Given the description of an element on the screen output the (x, y) to click on. 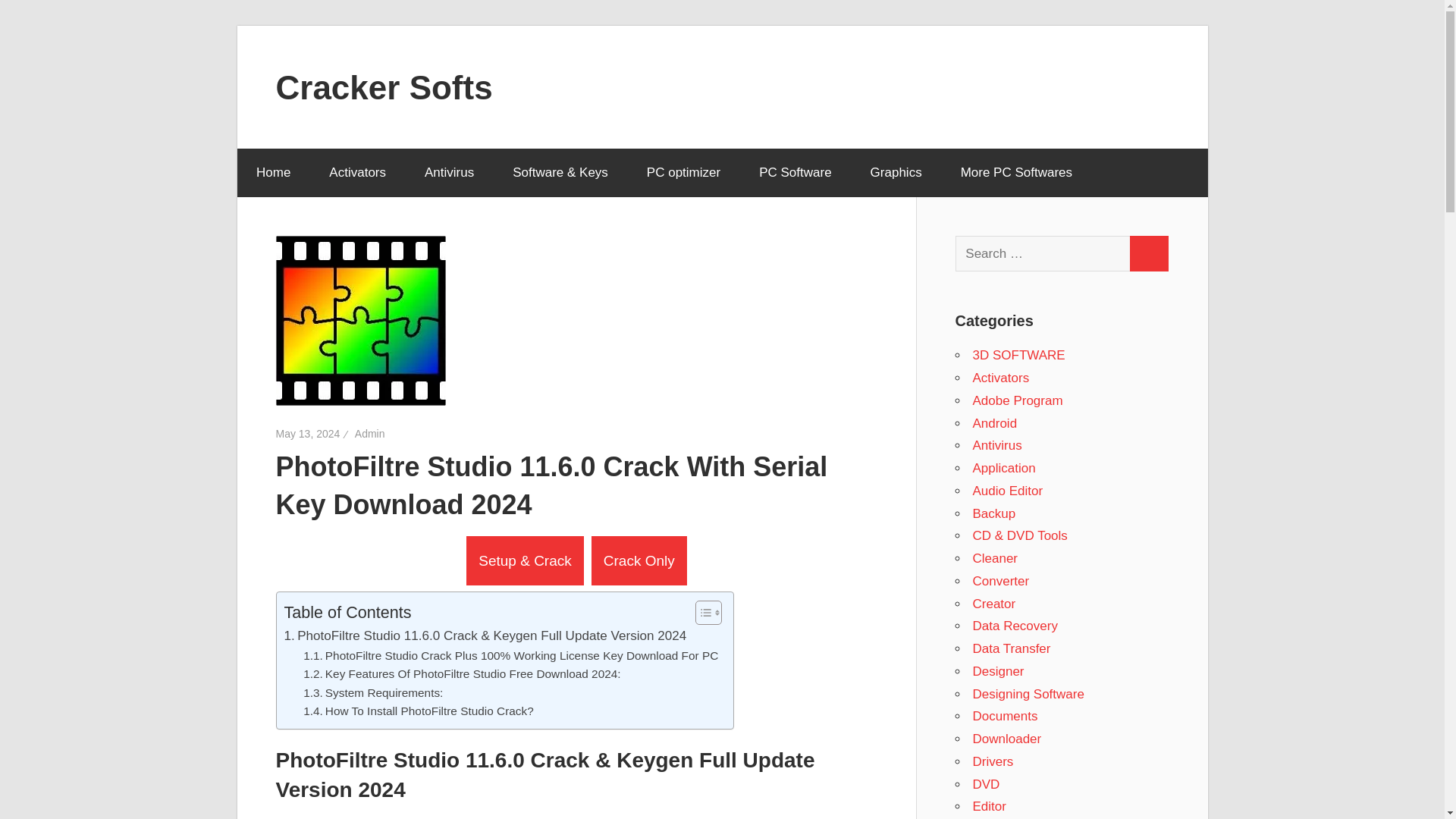
Key Features Of PhotoFiltre Studio Free Download 2024: (461, 674)
System Requirements: (372, 692)
Admin (370, 433)
May 13, 2024 (308, 433)
Crack Only (639, 560)
How To Install PhotoFiltre Studio Crack? (418, 711)
Cracker Softs (384, 86)
PC optimizer (683, 172)
Key Features Of PhotoFiltre Studio Free Download 2024: (461, 674)
Search for: (1043, 253)
